Given the description of an element on the screen output the (x, y) to click on. 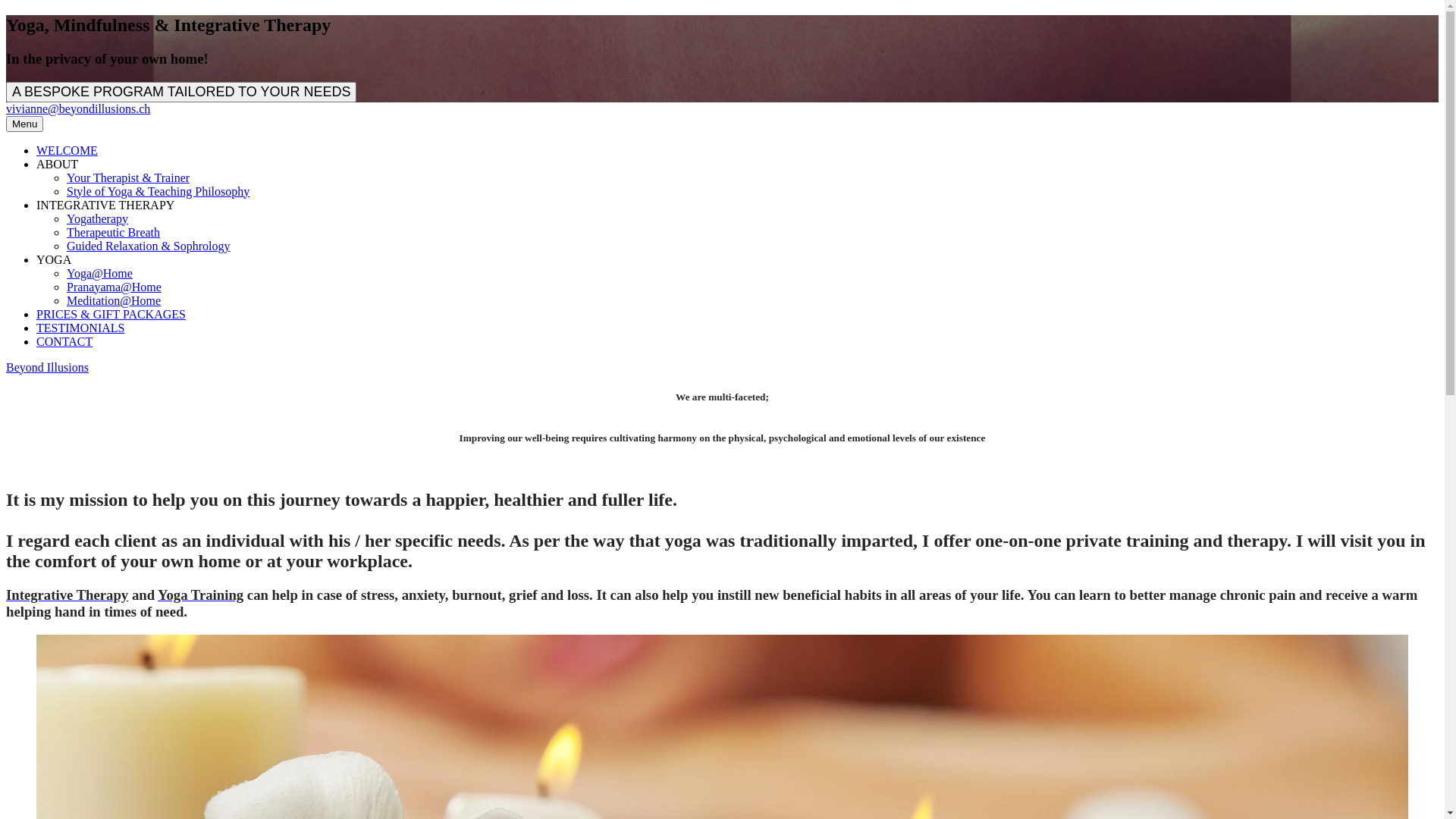
Yoga@Home Element type: text (99, 272)
Your Therapist & Trainer Element type: text (127, 177)
Guided Relaxation & Sophrology Element type: text (148, 245)
Therapeutic Breath Element type: text (113, 231)
Menu Element type: text (24, 123)
Integrative Therapy Element type: text (67, 594)
A BESPOKE PROGRAM TAILORED TO YOUR NEEDS Element type: text (181, 91)
Meditation@Home Element type: text (113, 300)
WELCOME Element type: text (66, 150)
Yoga Training Element type: text (200, 594)
PRICES & GIFT PACKAGES Element type: text (110, 313)
Yogatherapy Element type: text (97, 218)
Style of Yoga & Teaching Philosophy Element type: text (157, 191)
CONTACT Element type: text (64, 341)
Beyond Illusions Element type: text (47, 366)
Pranayama@Home Element type: text (113, 286)
TESTIMONIALS Element type: text (80, 327)
vivianne@beyondillusions.ch Element type: text (78, 108)
